Given the description of an element on the screen output the (x, y) to click on. 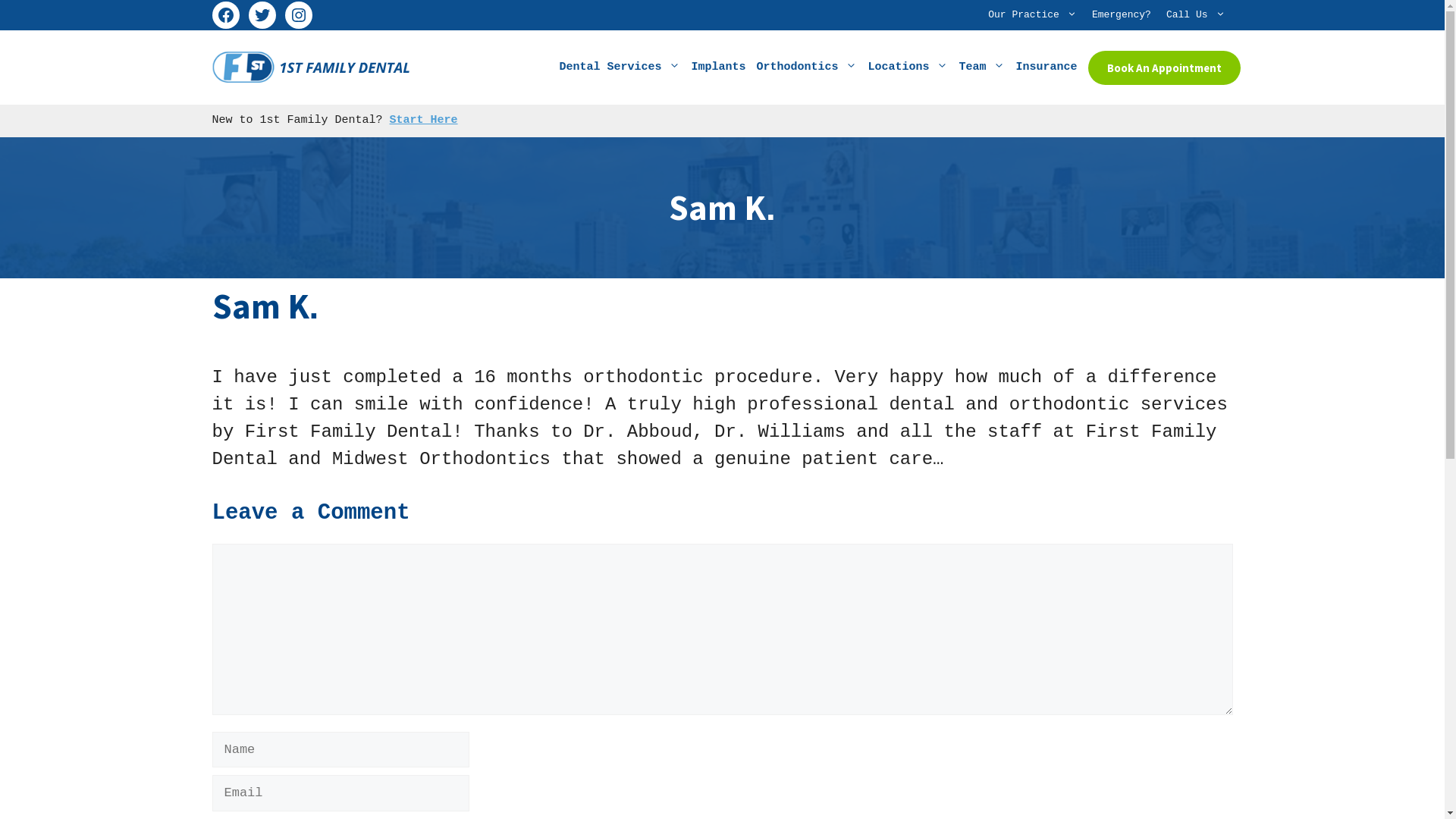
Start Here Element type: text (423, 119)
Our Practice Element type: text (1032, 15)
Book An Appointment Element type: text (1163, 67)
Implants Element type: text (717, 67)
Call Us Element type: text (1195, 15)
Orthodontics Element type: text (806, 67)
Locations Element type: text (907, 67)
Emergency? Element type: text (1121, 15)
Insurance Element type: text (1046, 67)
Team Element type: text (981, 67)
Dental Services Element type: text (619, 67)
